Given the description of an element on the screen output the (x, y) to click on. 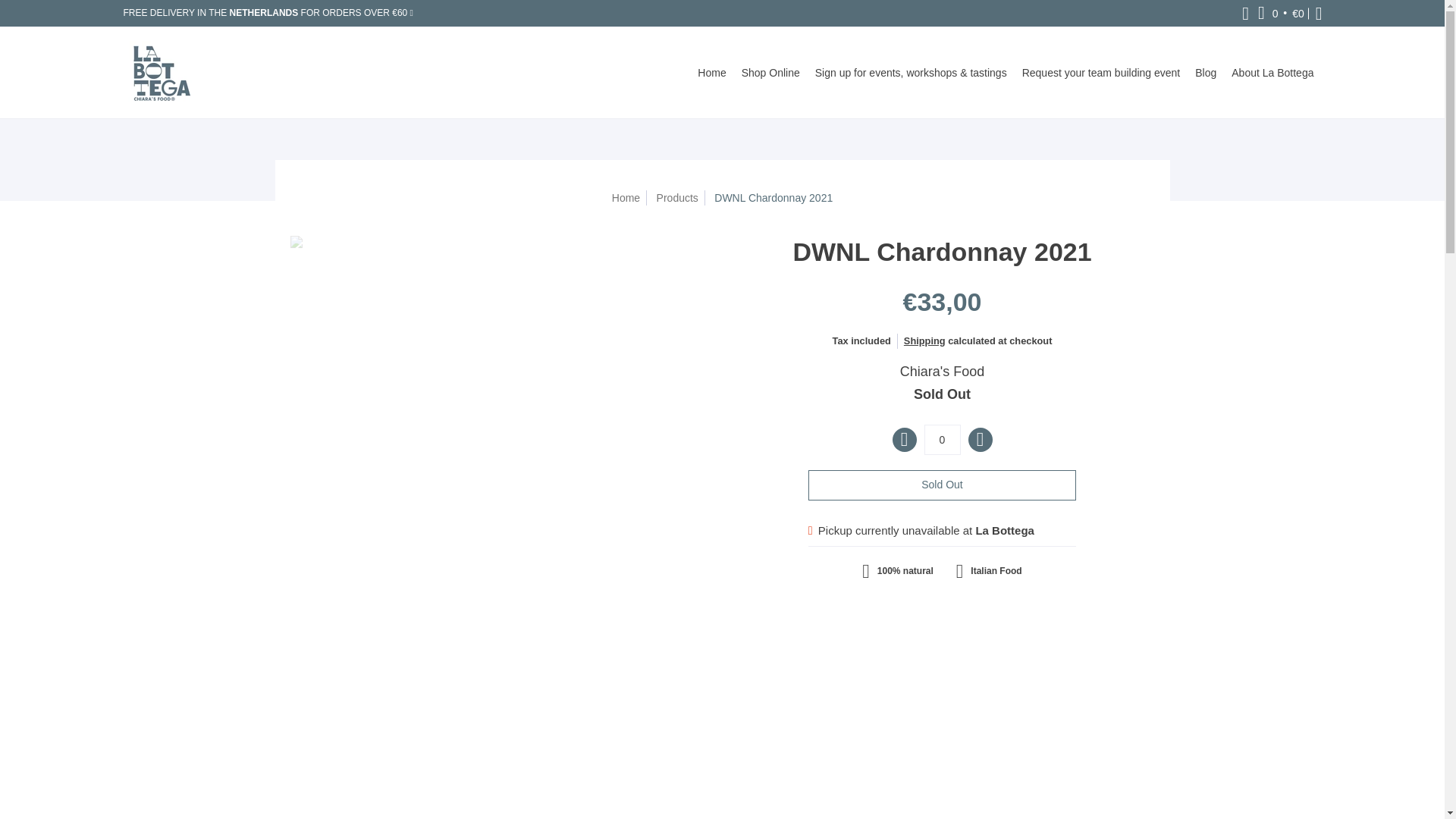
Back to the home page (625, 197)
Cart (1280, 13)
Home (625, 197)
Request your team building event (1101, 72)
Chiara's Food (942, 371)
Sold Out (941, 485)
Shipping (924, 340)
0 (941, 440)
Request your team building event (1101, 72)
Chiara's Food (942, 371)
